Given the description of an element on the screen output the (x, y) to click on. 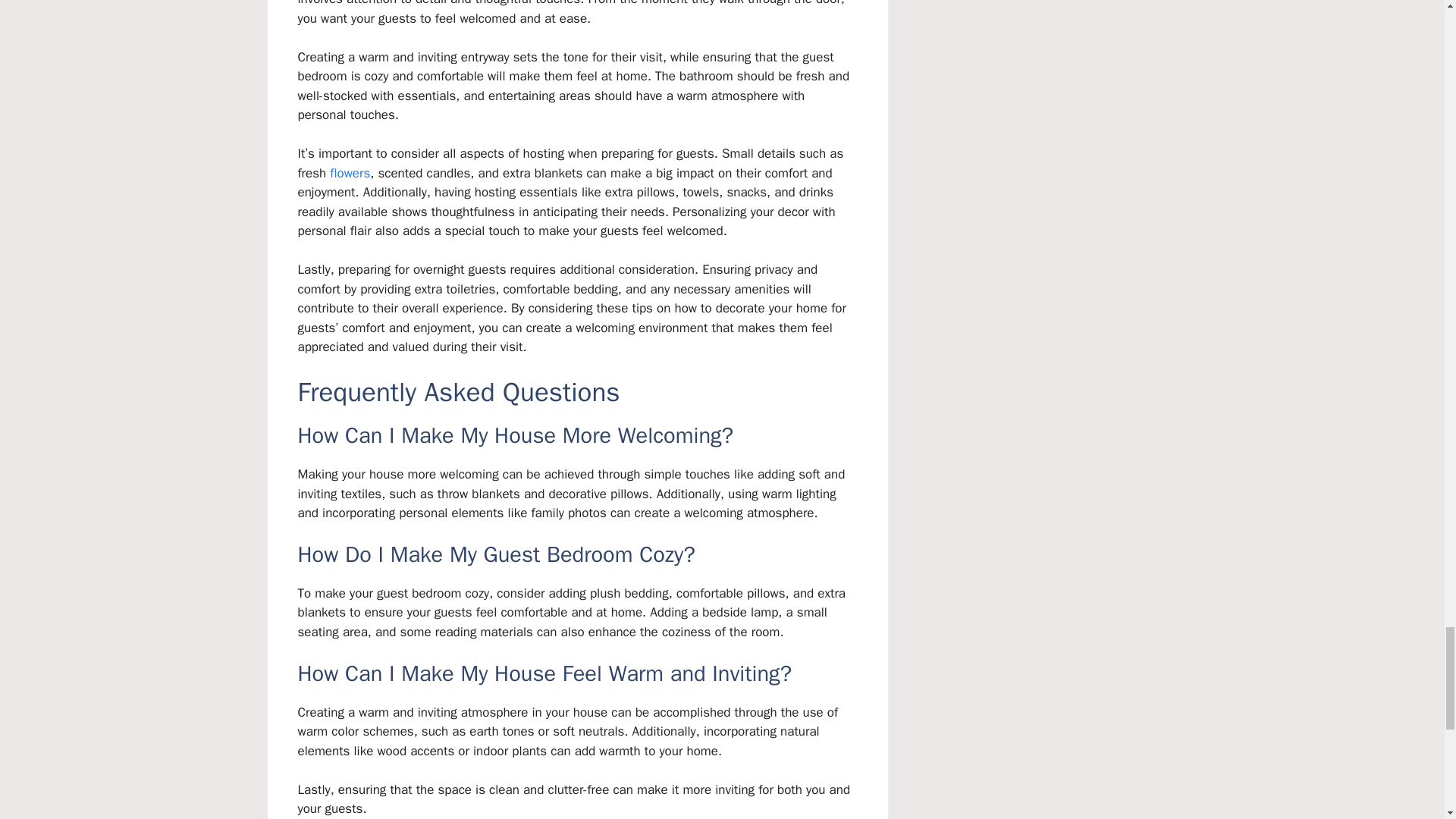
flowers (349, 172)
